Given the description of an element on the screen output the (x, y) to click on. 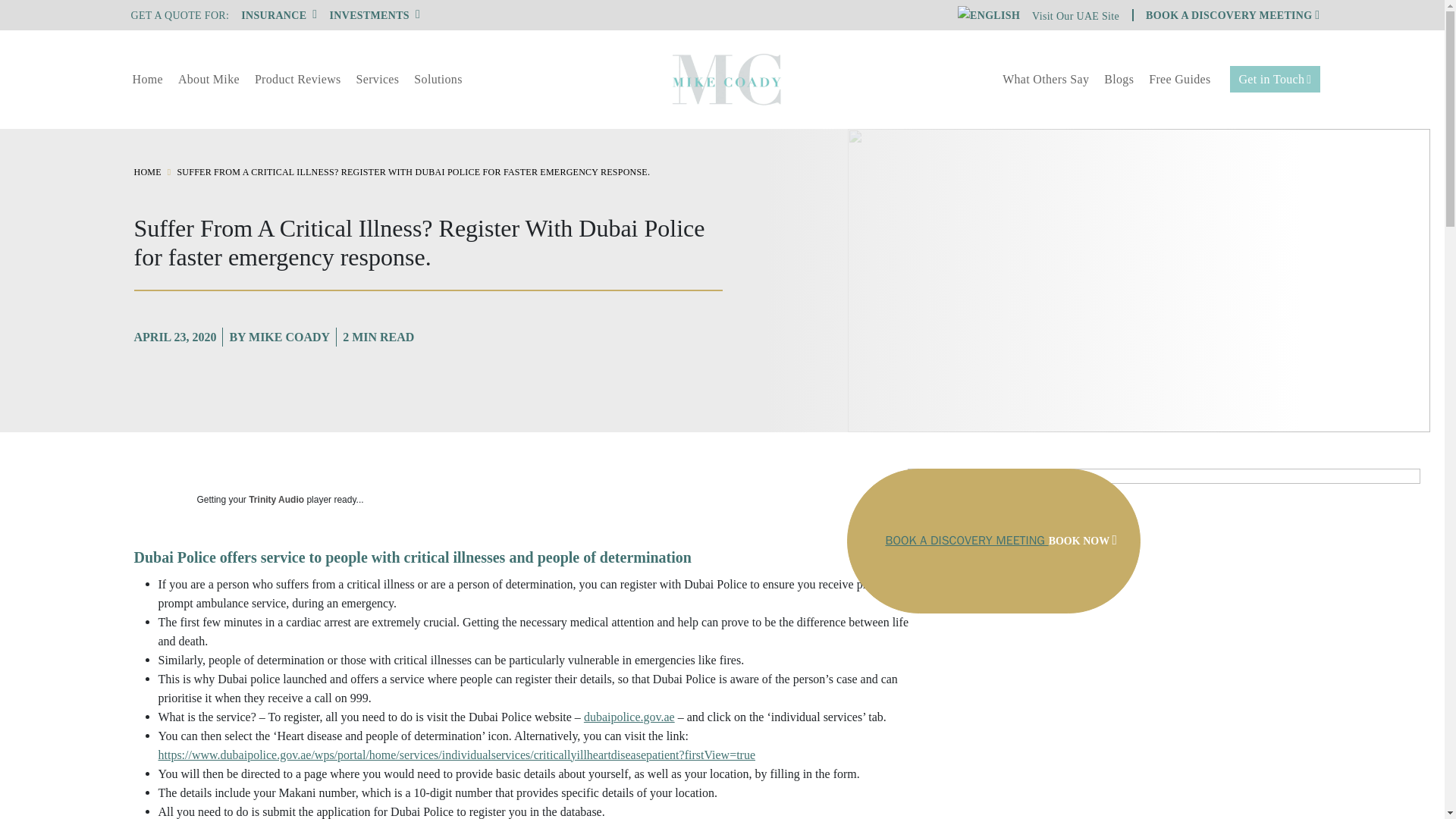
BOOK A DISCOVERY MEETING (1232, 15)
INSURANCE (279, 15)
About Mike (208, 79)
INVESTMENTS (375, 15)
Product Reviews (298, 79)
